Given the description of an element on the screen output the (x, y) to click on. 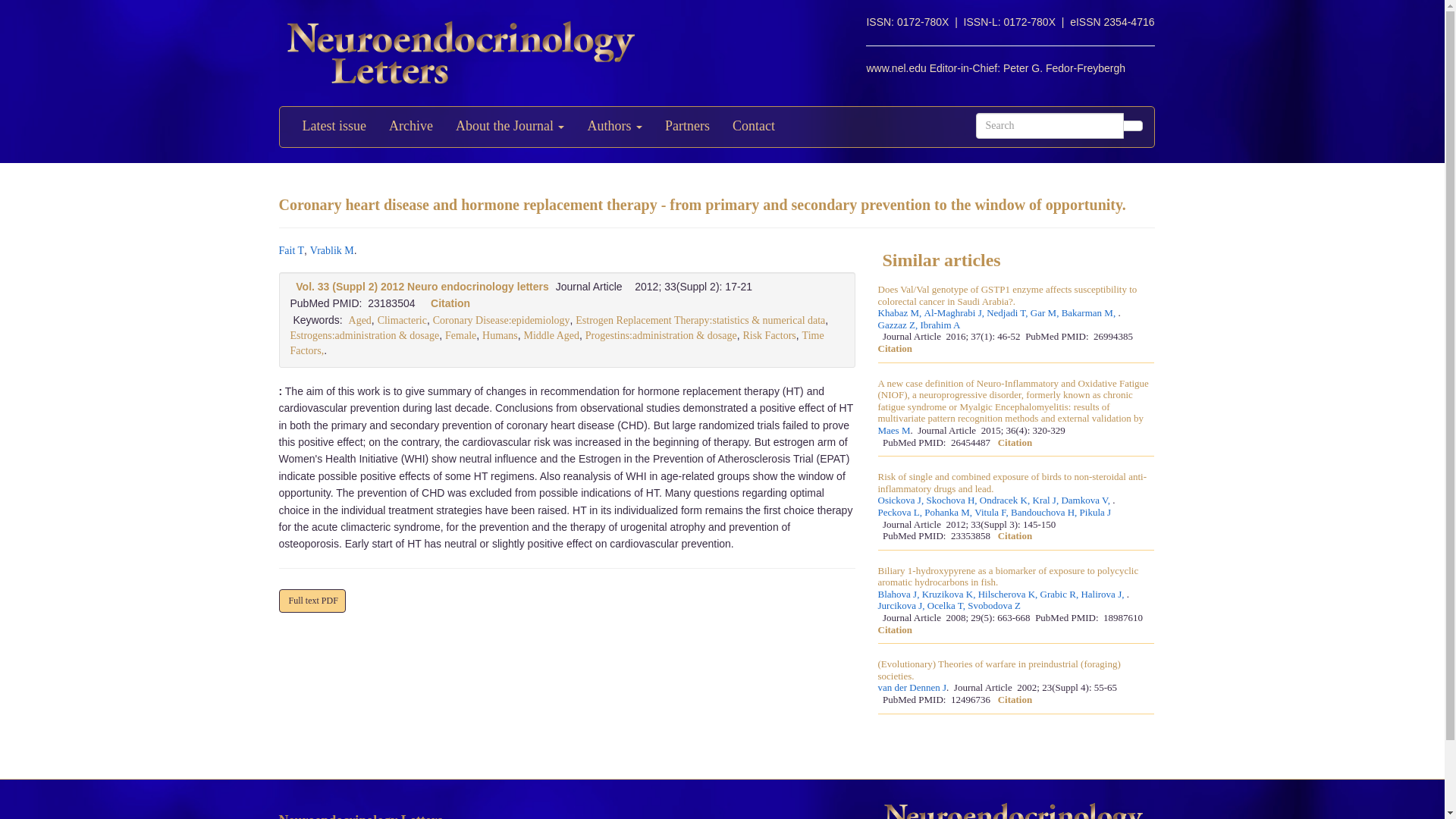
Risk Factors (768, 335)
Al-Maghrabi J,  (955, 313)
Coronary Disease:epidemiology (501, 319)
Citation (450, 303)
Latest issue (334, 127)
Vrablik M (331, 250)
About the Journal (509, 127)
Gar M,  (1045, 313)
Nedjadi T,  (1008, 313)
Fait T (291, 250)
Climacteric (401, 319)
Female (460, 335)
Authors (614, 127)
Aged (360, 319)
Humans (499, 335)
